Given the description of an element on the screen output the (x, y) to click on. 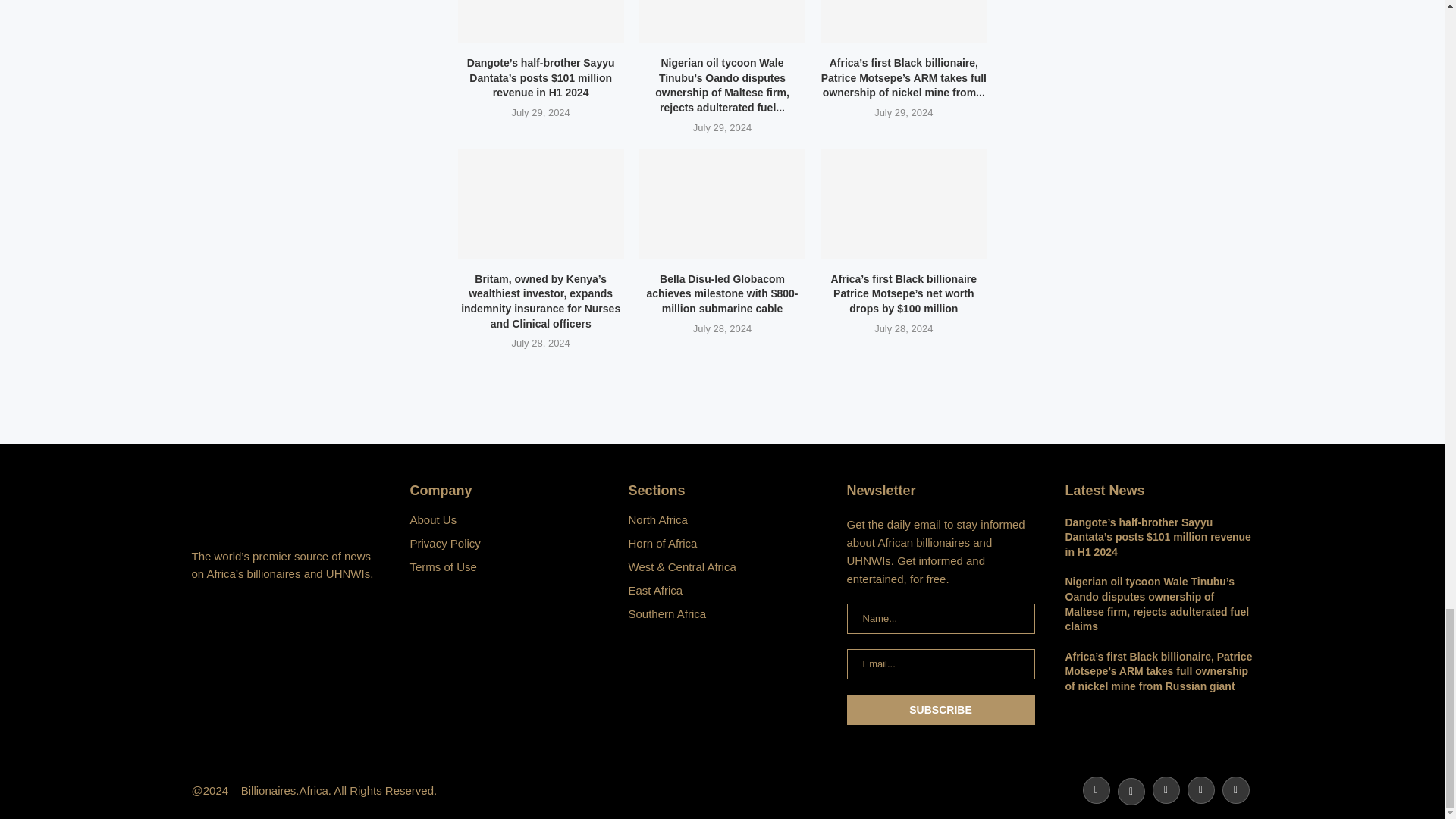
Subscribe (939, 709)
